Given the description of an element on the screen output the (x, y) to click on. 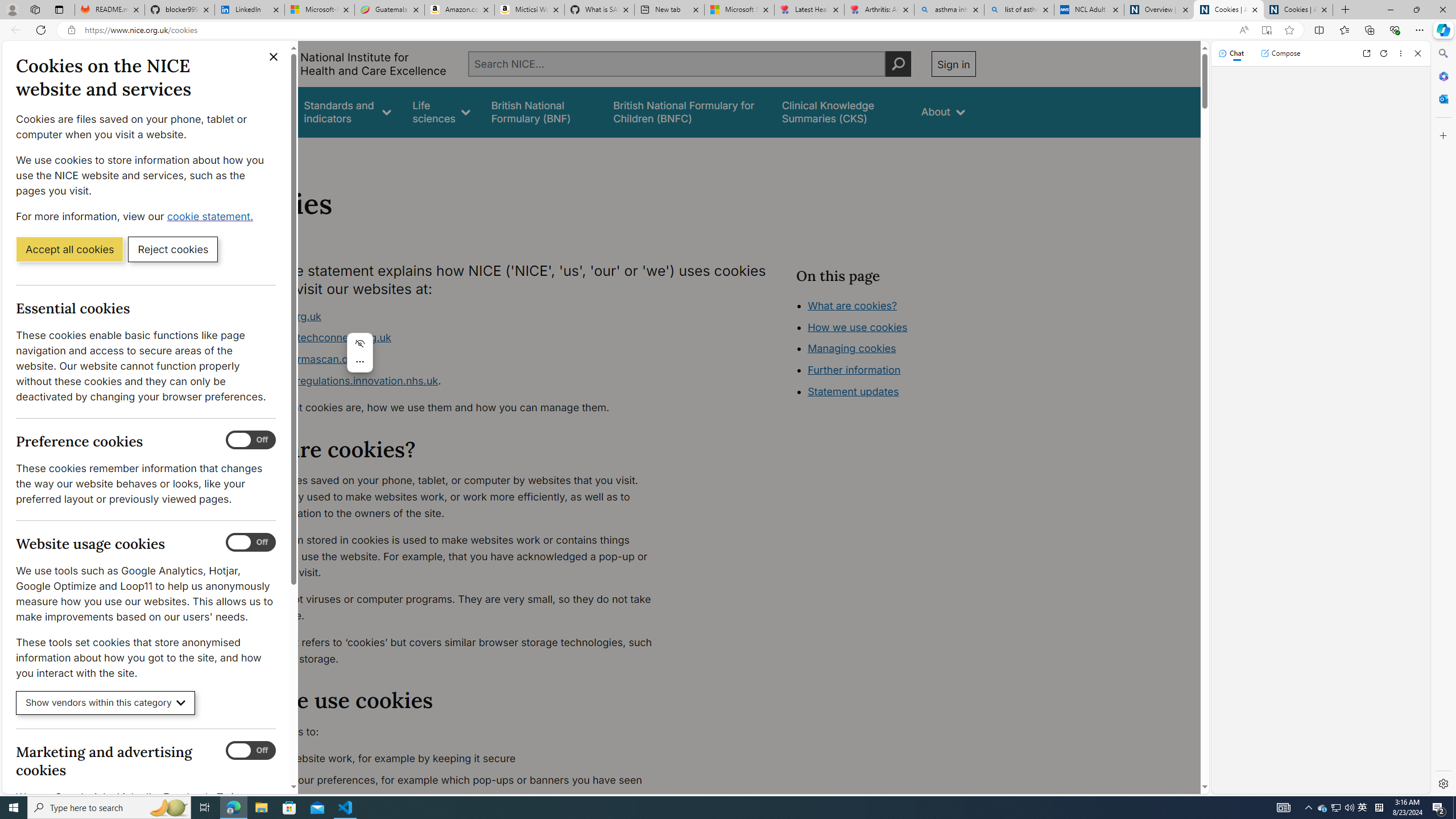
www.ukpharmascan.org.uk (452, 359)
About (283, 152)
Life sciences (440, 111)
Perform search (898, 63)
Hide menu (359, 343)
LinkedIn (249, 9)
cookie statement. (Opens in a new window) (211, 215)
How we use cookies (896, 389)
Home> (246, 152)
list of asthma inhalers uk - Search (1018, 9)
Chat (1231, 52)
Class: in-page-nav__list (884, 349)
